Given the description of an element on the screen output the (x, y) to click on. 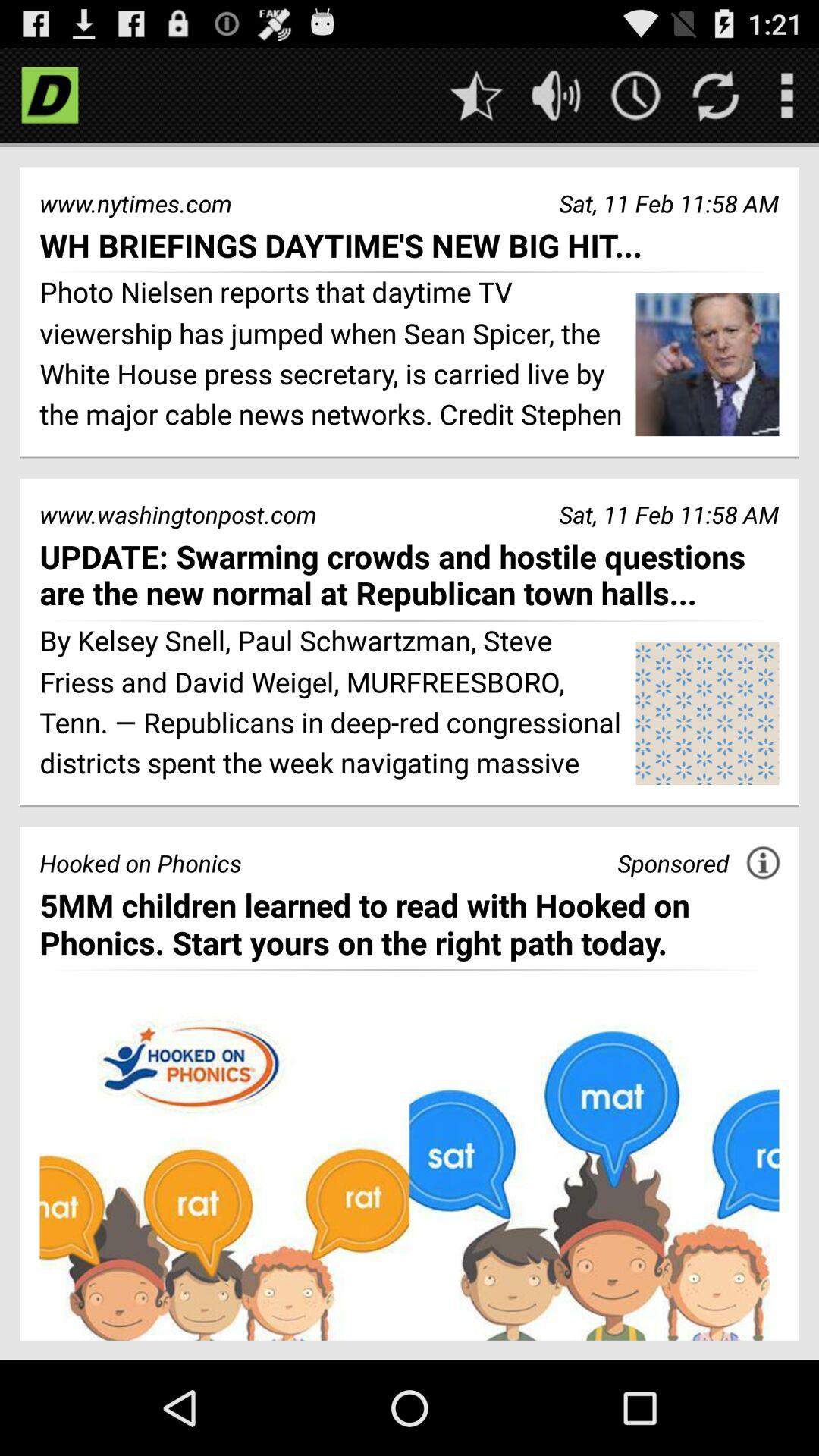
click the update swarming crowds (409, 574)
